Given the description of an element on the screen output the (x, y) to click on. 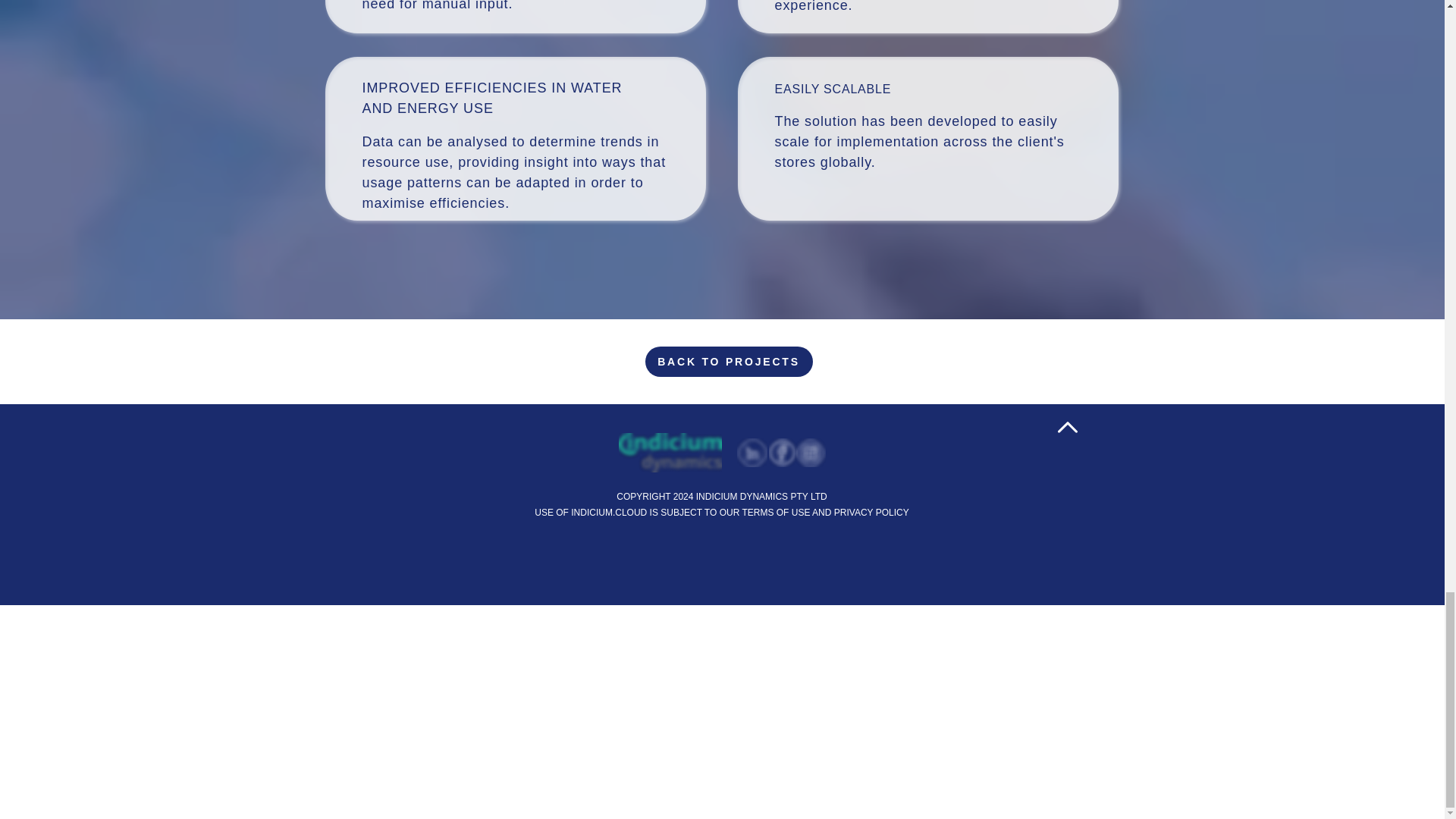
BACK TO PROJECTS (728, 361)
